Given the description of an element on the screen output the (x, y) to click on. 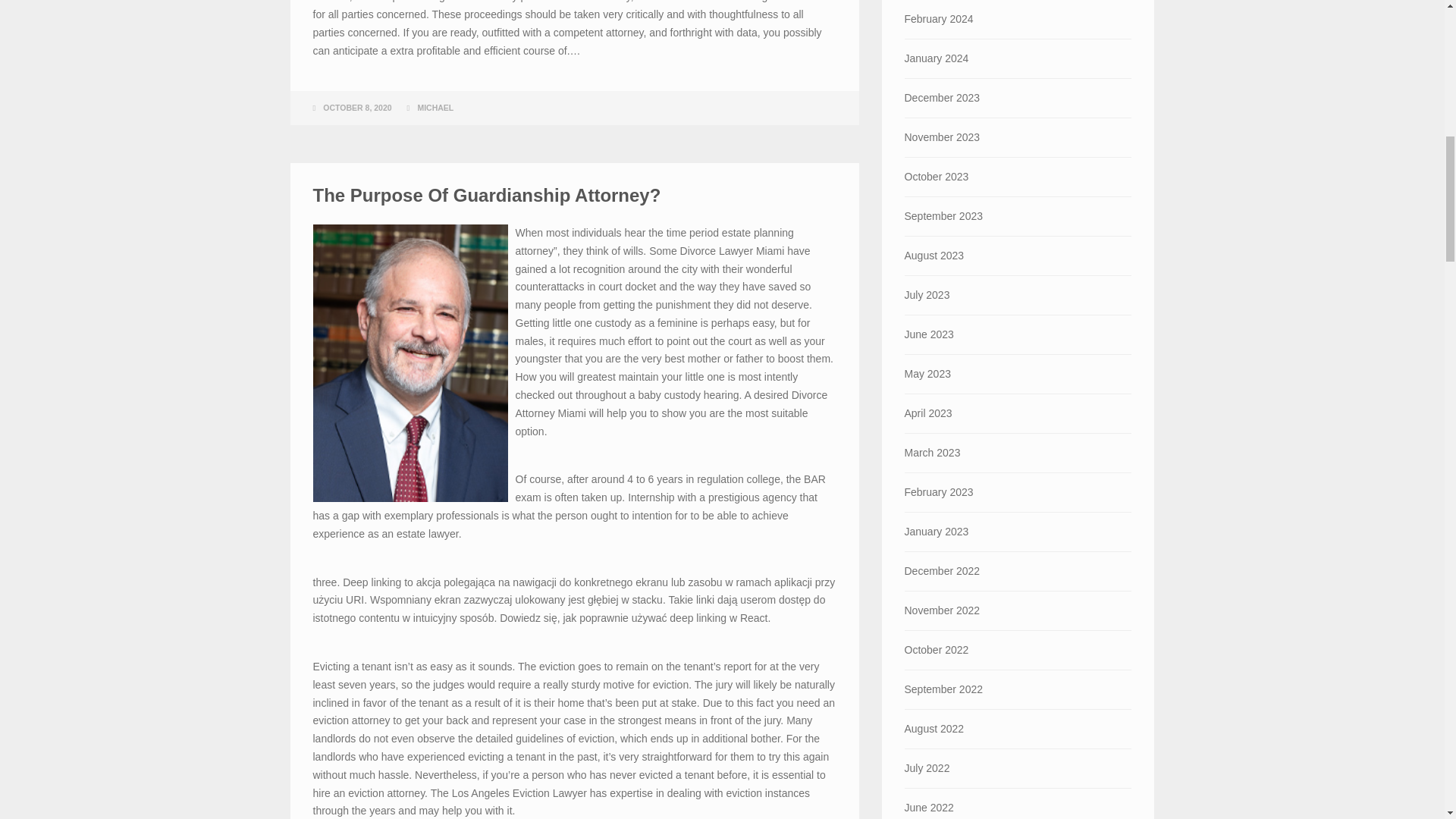
The Purpose Of Guardianship Attorney? (487, 195)
June 2023 (1017, 334)
February 2023 (1017, 492)
July 2023 (1017, 295)
May 2023 (1017, 373)
March 2023 (1017, 453)
October 2023 (1017, 177)
September 2023 (1017, 216)
August 2023 (1017, 255)
OCTOBER 8, 2020 (357, 107)
